Given the description of an element on the screen output the (x, y) to click on. 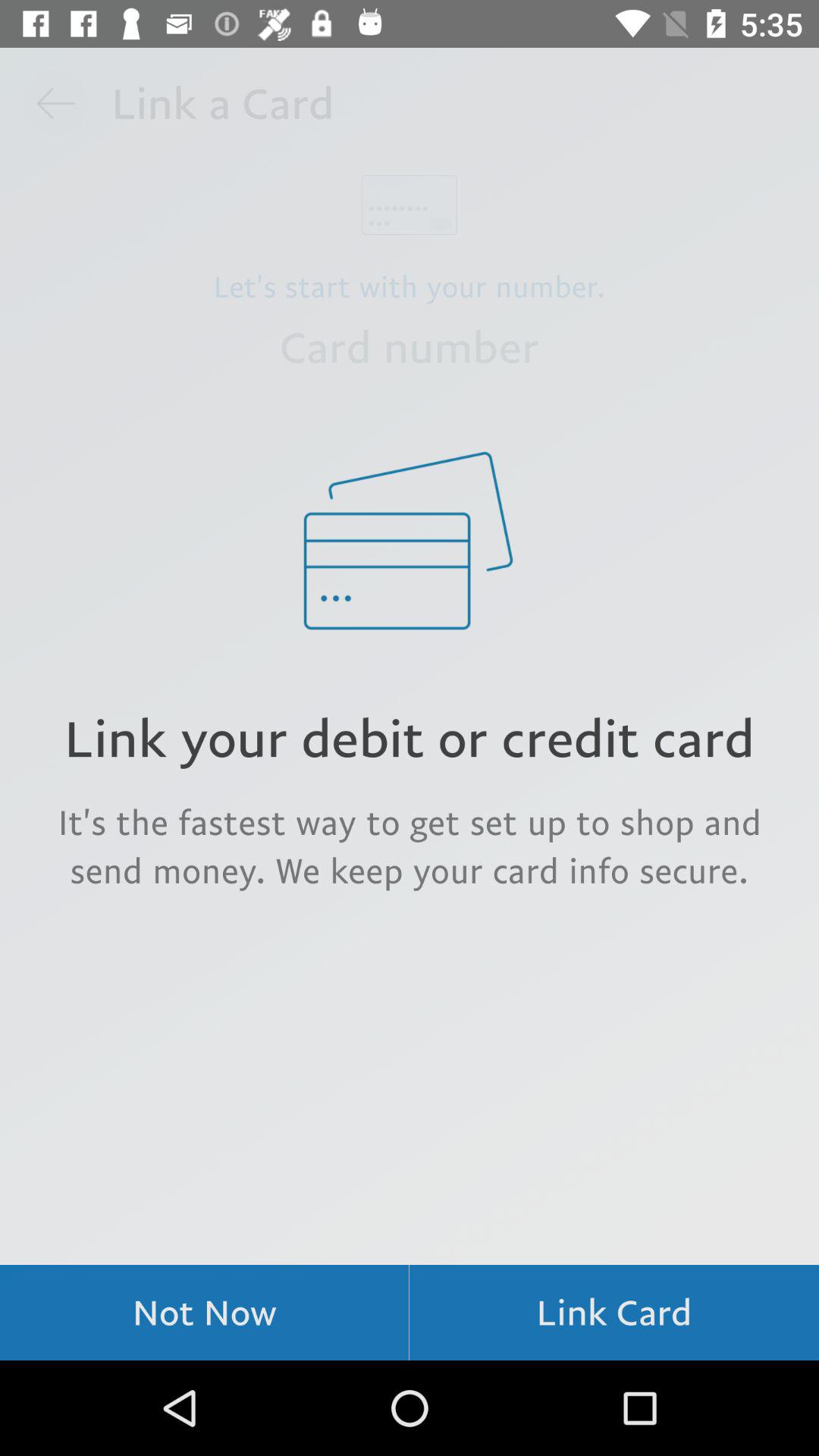
jump to the it s the item (409, 845)
